Given the description of an element on the screen output the (x, y) to click on. 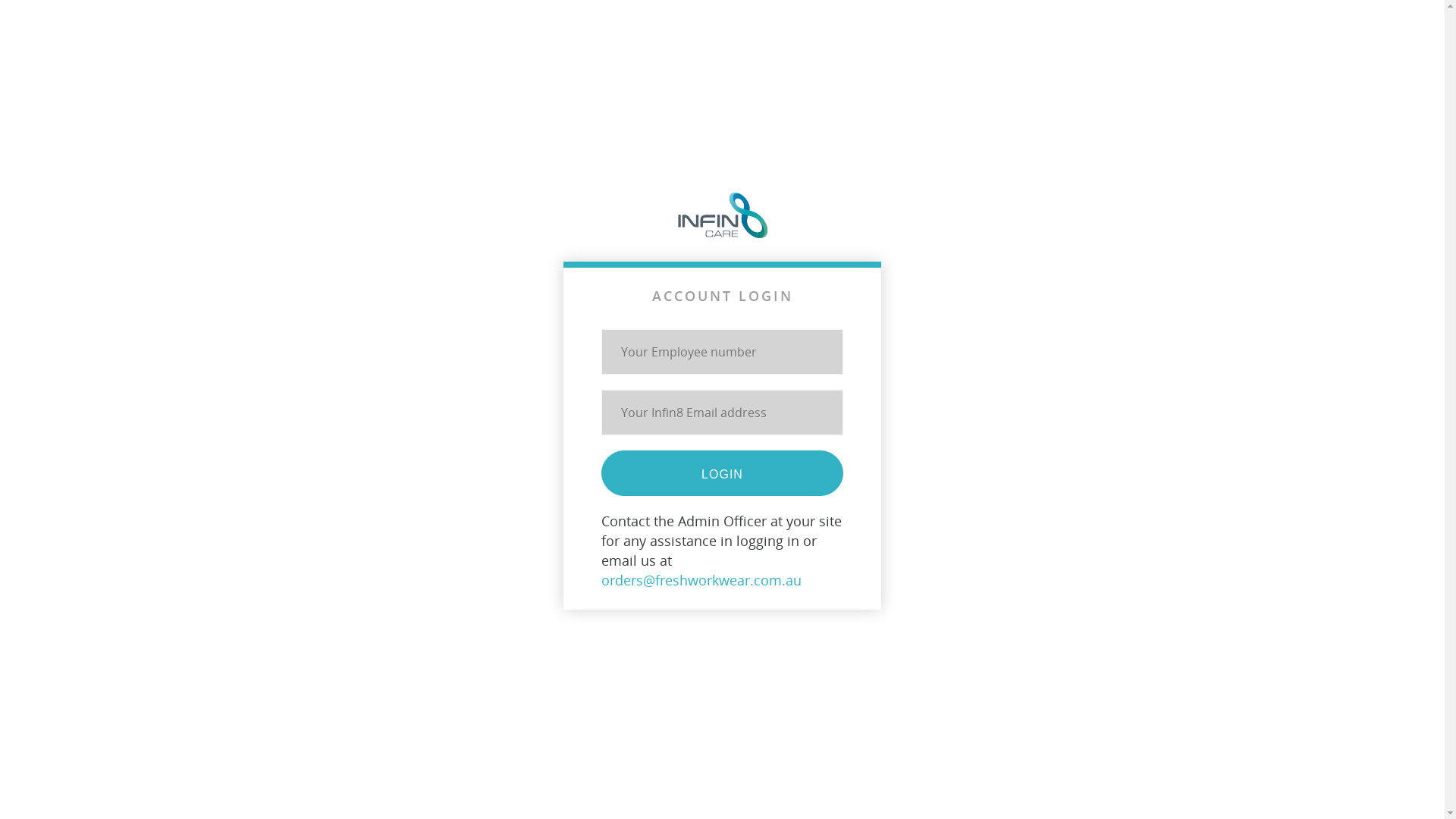
LOGIN Element type: text (722, 472)
orders@freshworkwear.com.au Element type: text (701, 580)
